Given the description of an element on the screen output the (x, y) to click on. 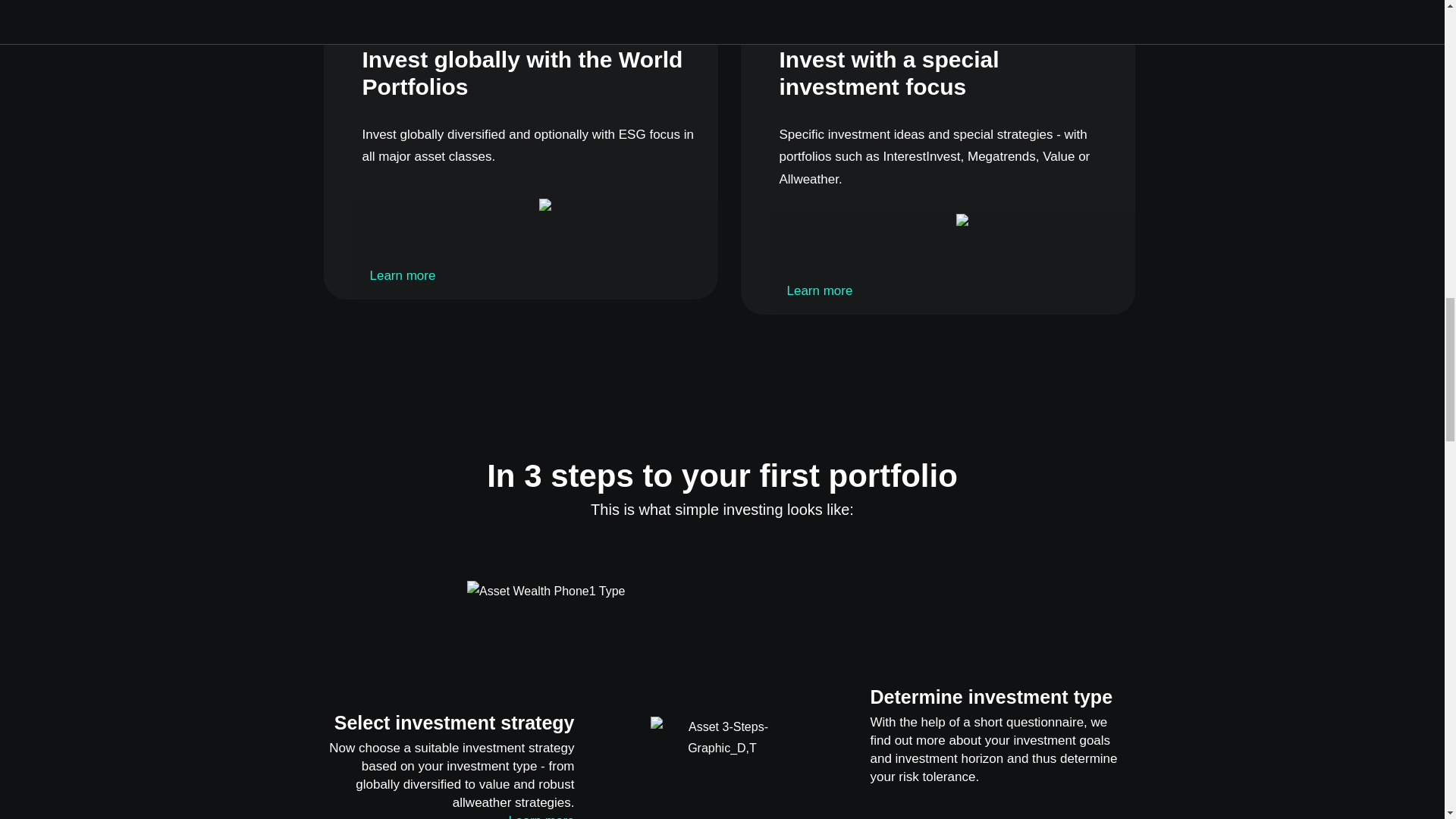
Learn more (541, 816)
Learn more (818, 290)
Learn more (402, 275)
